Given the description of an element on the screen output the (x, y) to click on. 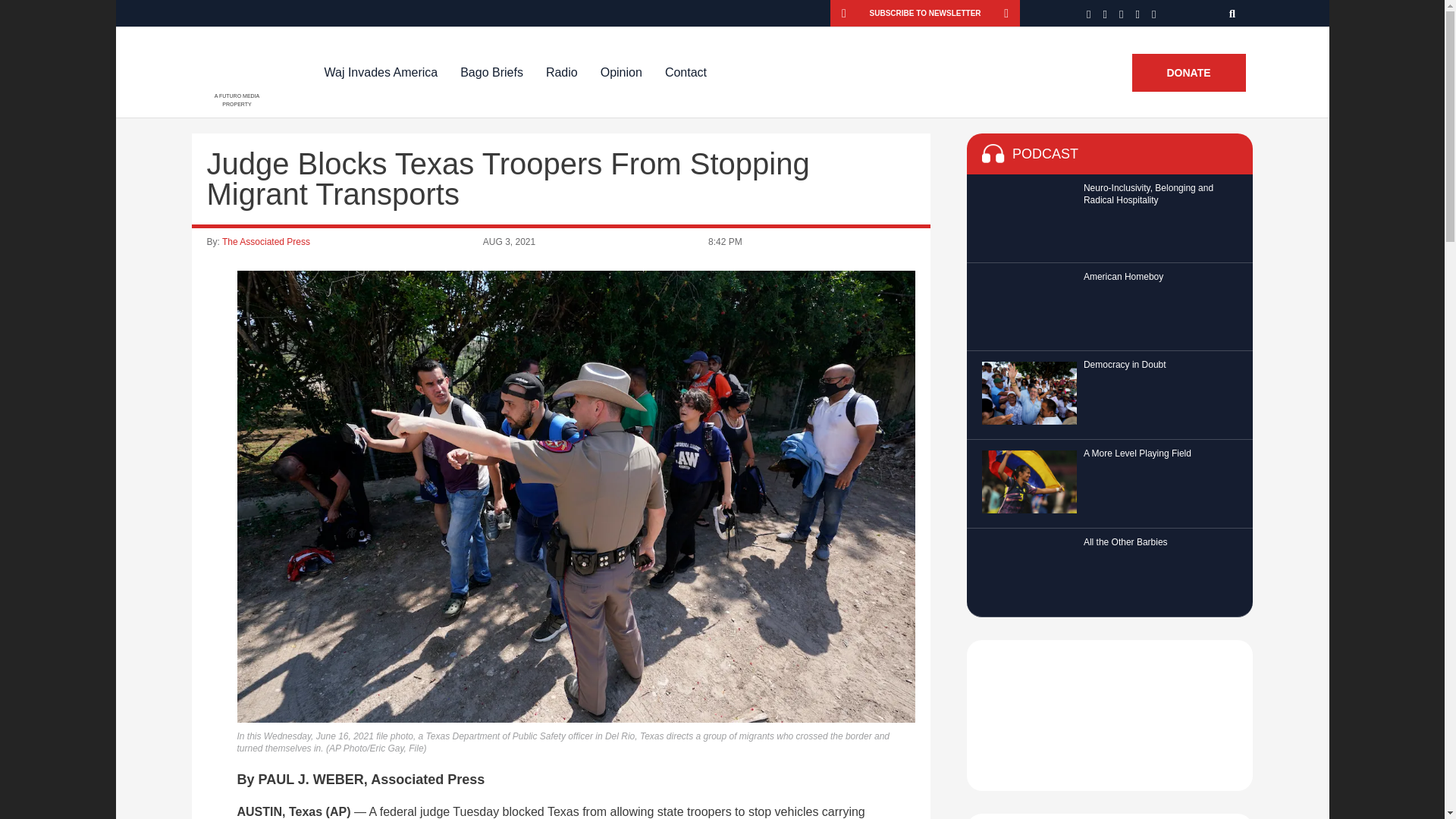
Bago Briefs (491, 72)
Subscribe to newsletter (924, 13)
Search (1233, 13)
DONATE (1187, 72)
Search (1233, 13)
Search (1233, 13)
The Associated Press (266, 241)
Posts by The Associated Press (266, 241)
Waj Invades America (380, 72)
